Given the description of an element on the screen output the (x, y) to click on. 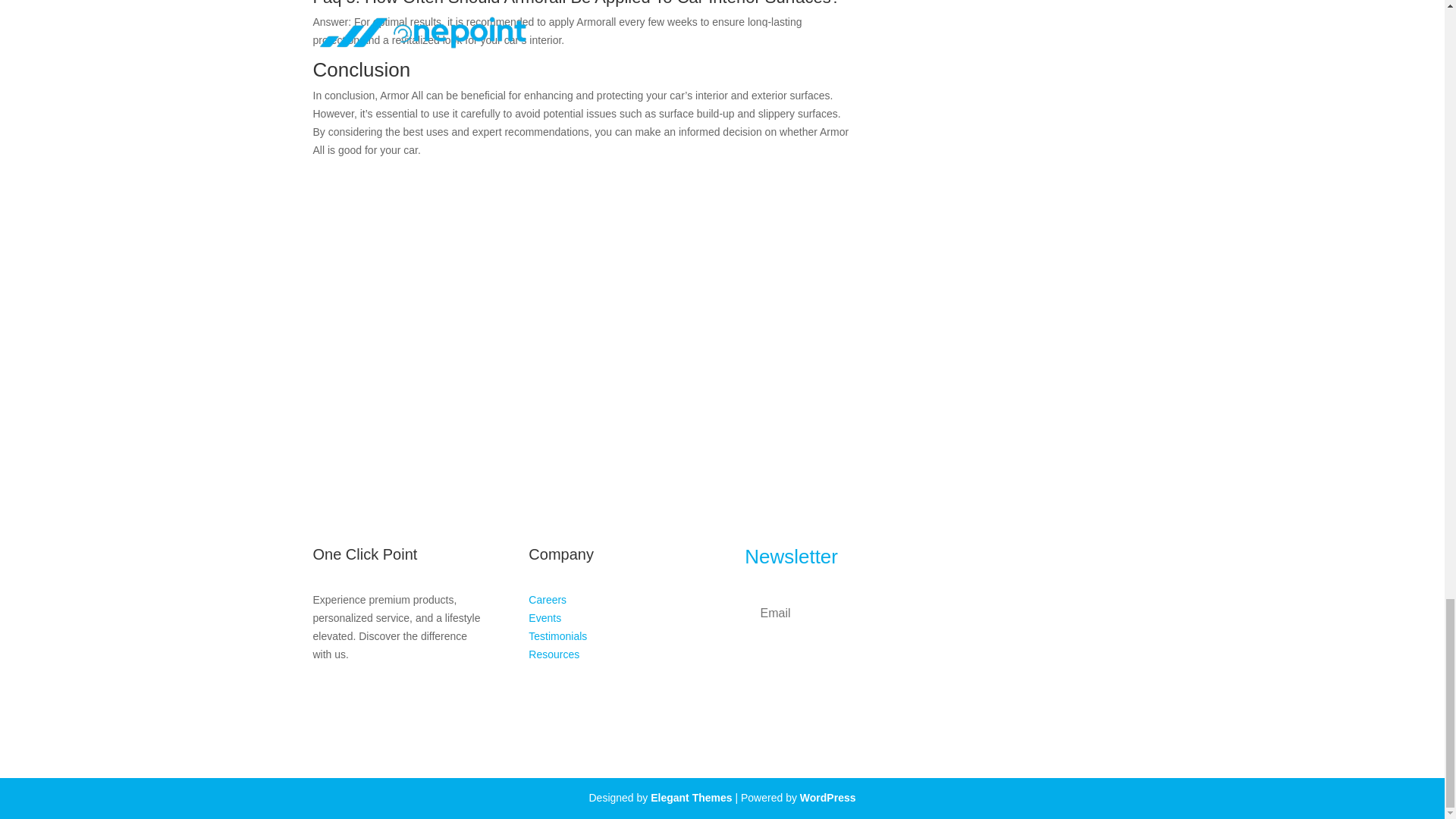
Follow on Facebook (324, 698)
Premium WordPress Themes (691, 797)
Follow on LinkedIn (384, 698)
Follow on X (354, 698)
